Given the description of an element on the screen output the (x, y) to click on. 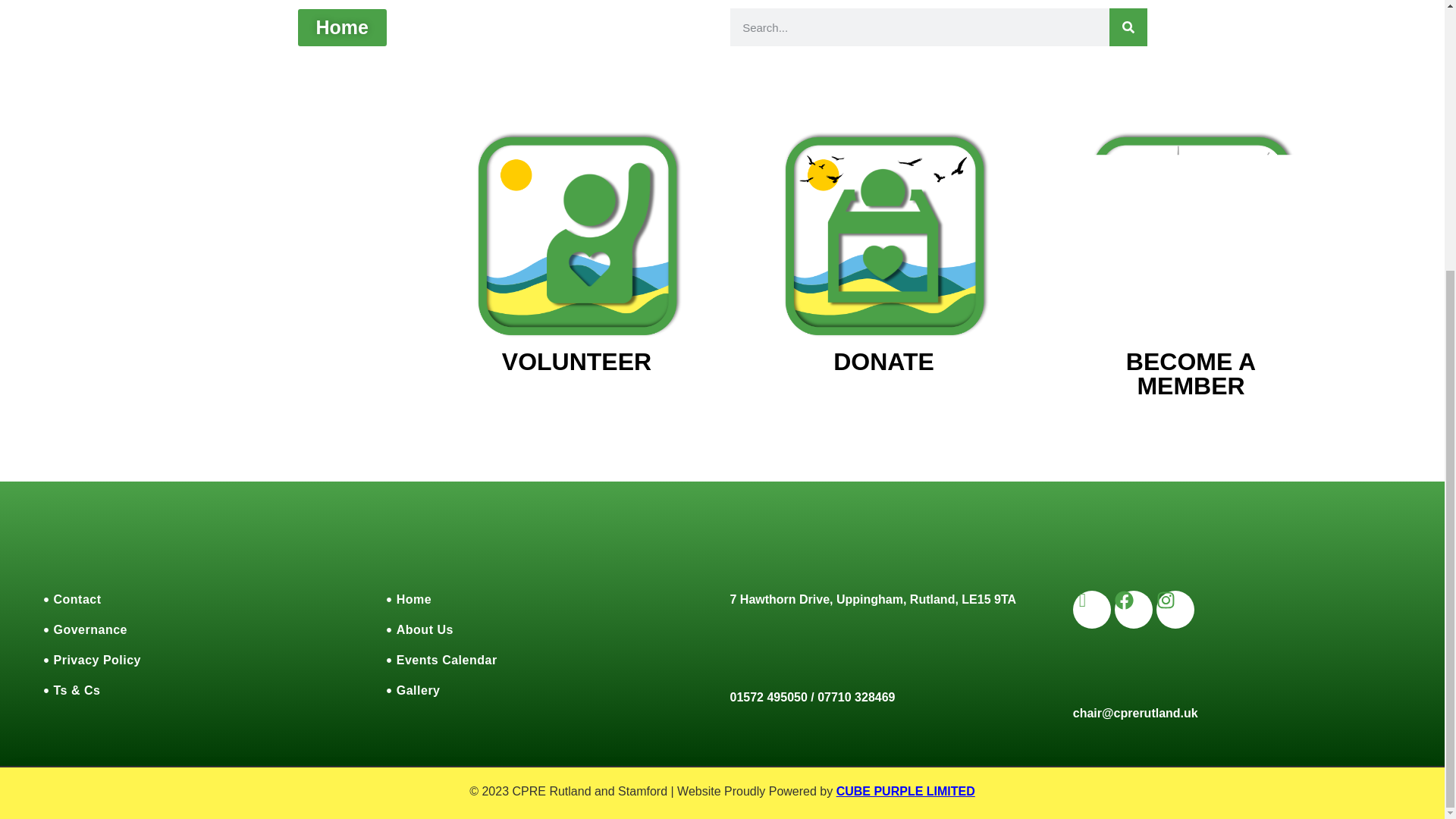
Events Calendar (550, 660)
Gallery (550, 690)
Privacy Policy (92, 660)
Home (550, 599)
About Us (550, 629)
CUBE PURPLE LIMITED (905, 790)
Governance (85, 629)
Contact (72, 599)
Home (341, 27)
